Given the description of an element on the screen output the (x, y) to click on. 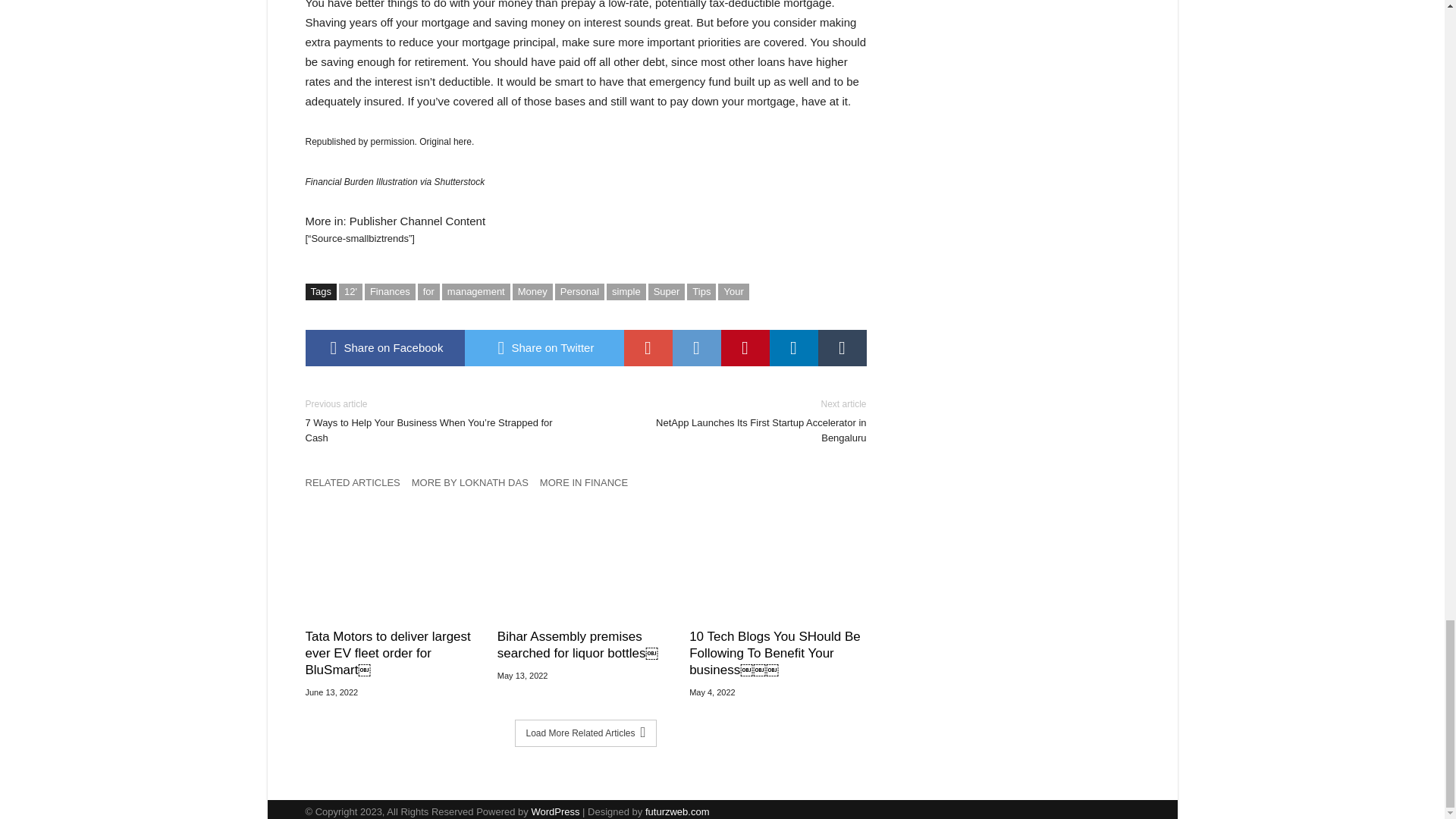
for (428, 291)
12' (350, 291)
Finances (389, 291)
Money (532, 291)
management (476, 291)
